Given the description of an element on the screen output the (x, y) to click on. 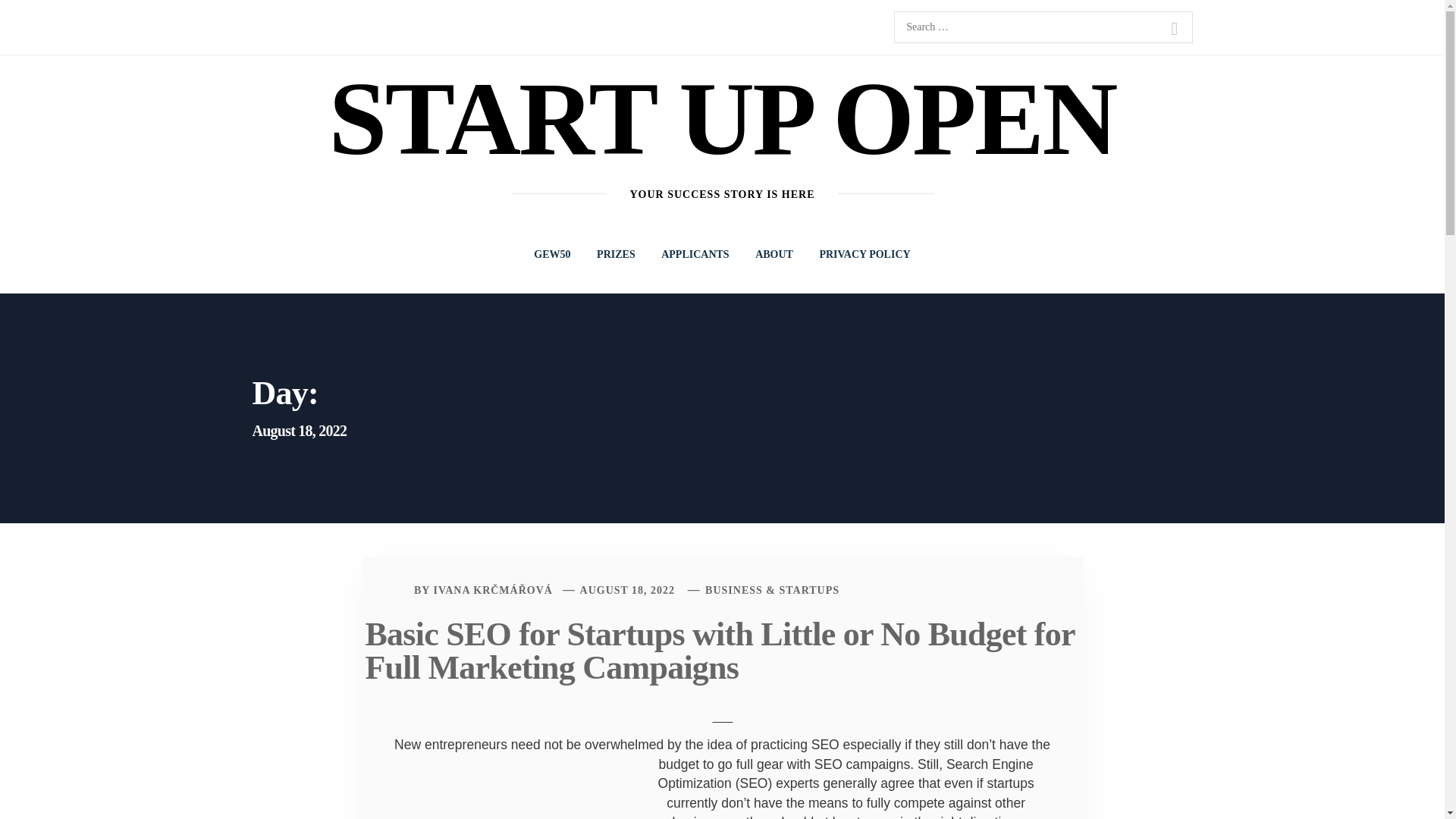
Search (1174, 28)
START UP OPEN (722, 118)
ABOUT (774, 254)
startups (1010, 783)
APPLICANTS (694, 254)
PRIVACY POLICY (864, 254)
PRIZES (615, 254)
GEW50 (551, 254)
AUGUST 18, 2022 (627, 590)
